Given the description of an element on the screen output the (x, y) to click on. 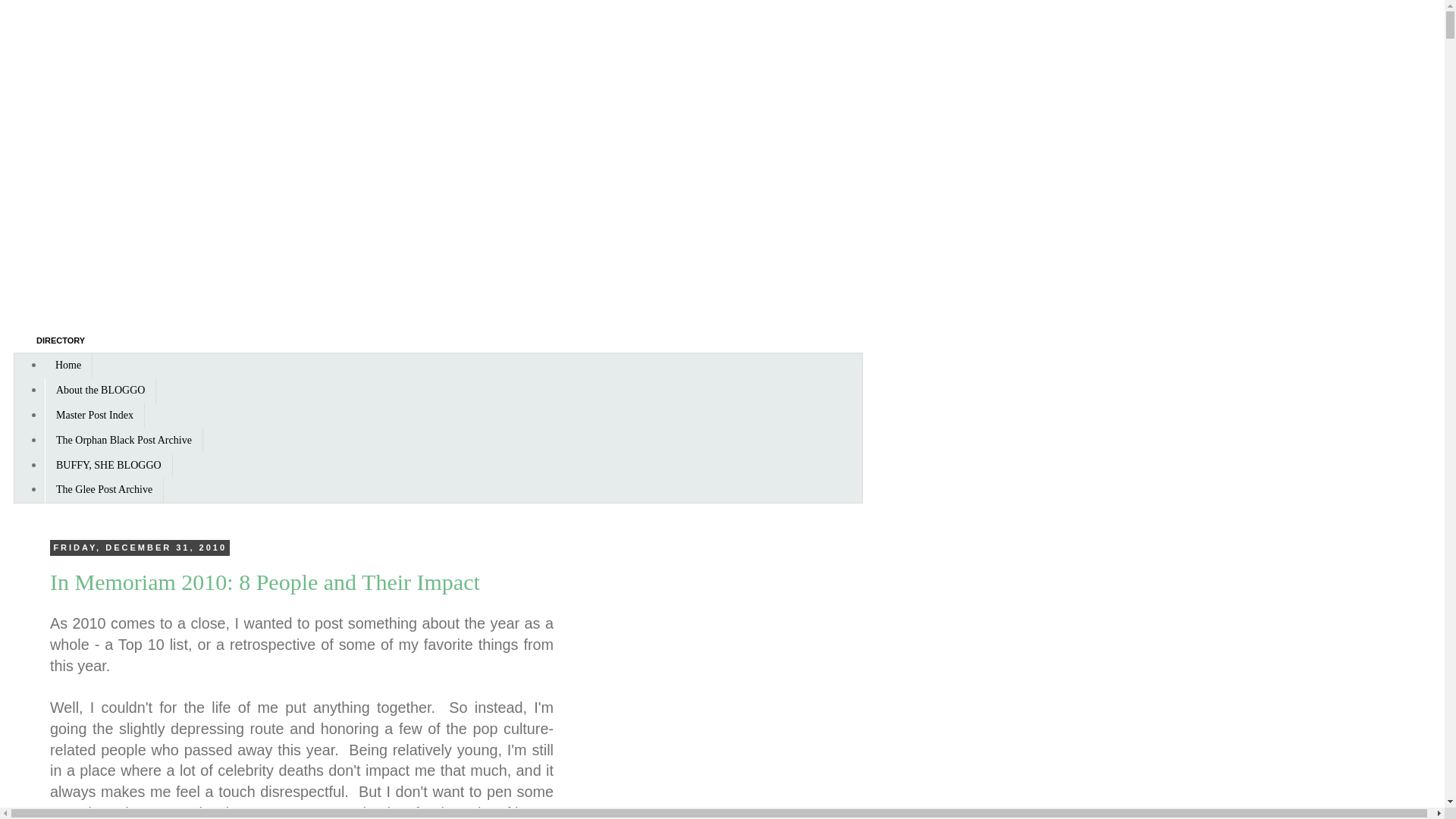
About the BLOGGO (100, 390)
The Glee Post Archive (104, 489)
Home (69, 365)
Master Post Index (94, 415)
BUFFY, SHE BLOGGO (109, 464)
In Memoriam 2010: 8 People and Their Impact (264, 581)
The Orphan Black Post Archive (124, 439)
